Given the description of an element on the screen output the (x, y) to click on. 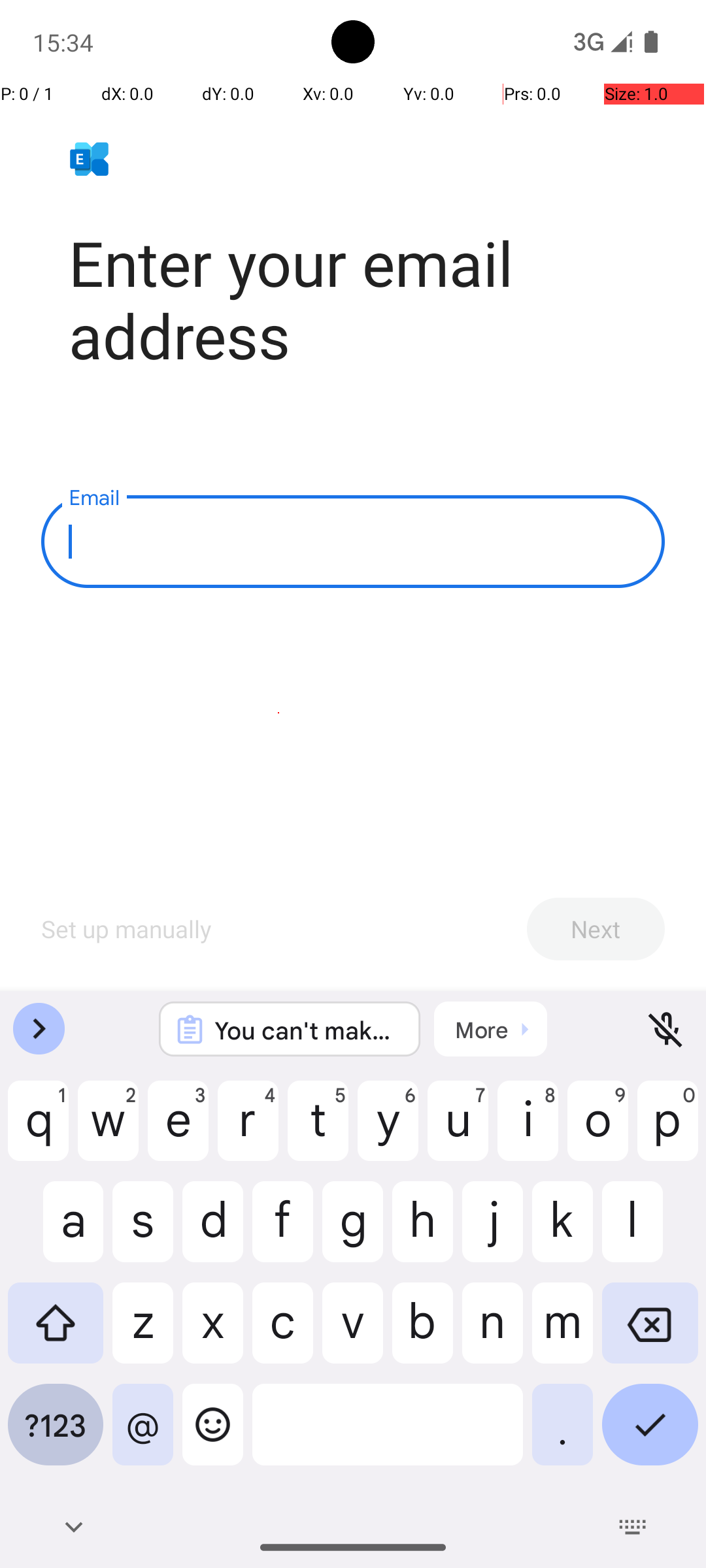
Set up manually Element type: android.widget.Button (126, 928)
Enter your email address Element type: android.widget.TextView (366, 298)
Email Element type: android.widget.EditText (352, 541)
Voice input disabled Element type: android.widget.FrameLayout (666, 1028)
@ Element type: android.widget.FrameLayout (142, 1434)
You can't make an omelette without breaking a few eggs. Element type: android.widget.TextView (306, 1029)
